Given the description of an element on the screen output the (x, y) to click on. 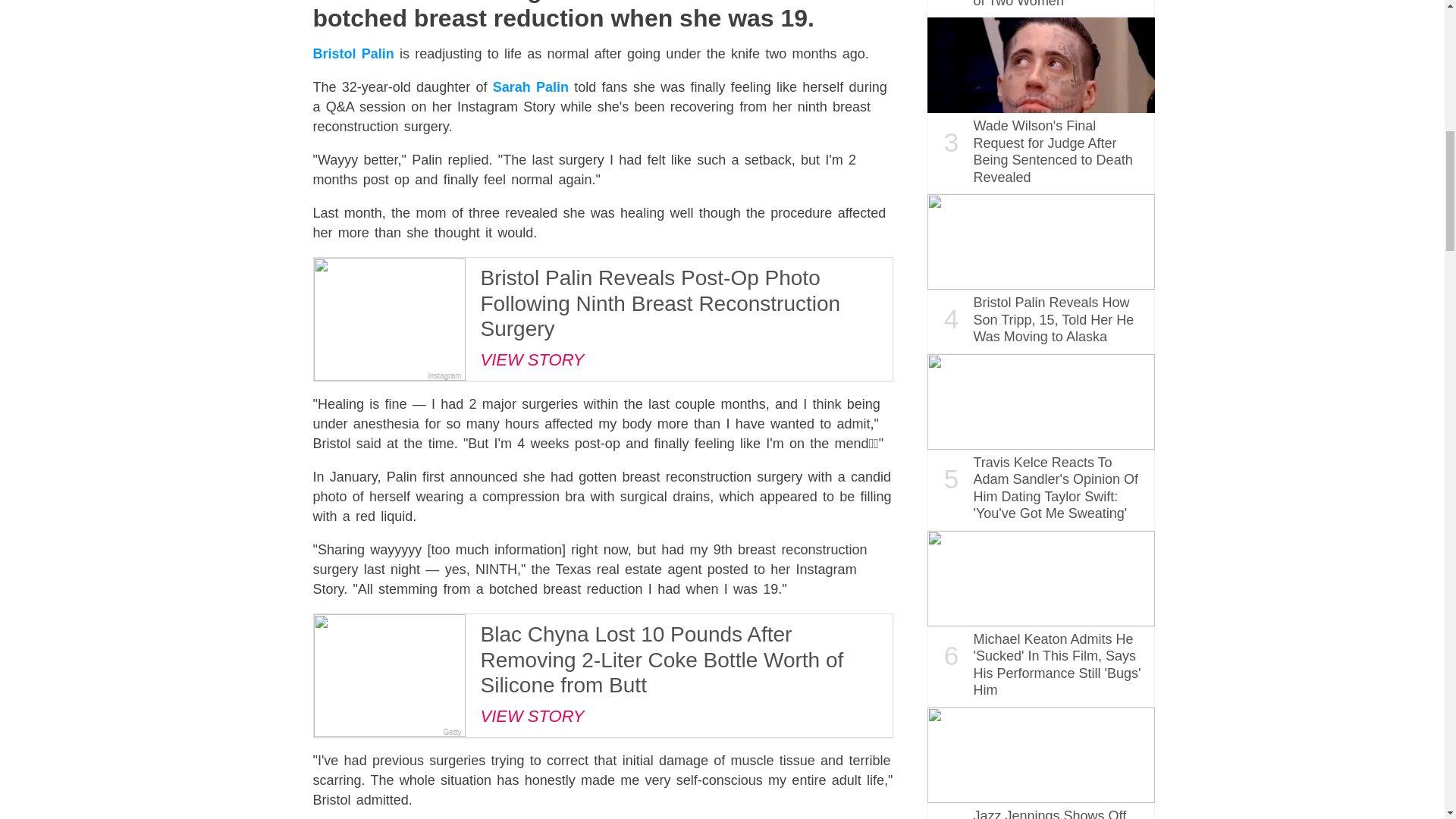
Sarah Palin (531, 87)
Bristol Palin (353, 53)
